Given the description of an element on the screen output the (x, y) to click on. 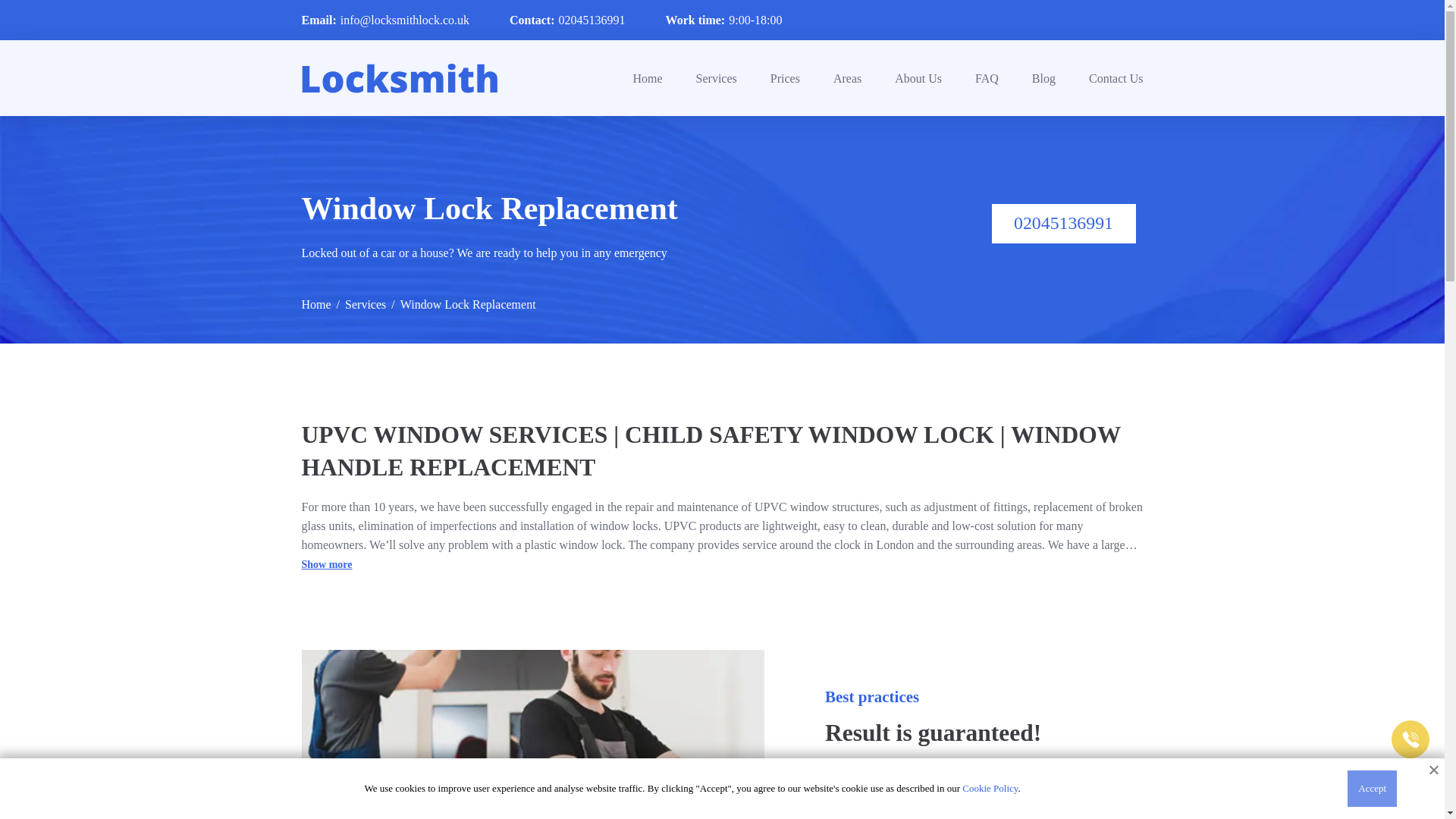
FAQ (986, 78)
About Us (918, 78)
Cookie Policy (989, 787)
Services (365, 309)
Home (646, 78)
Prices (784, 78)
Contact Us (1115, 78)
Services (715, 78)
Areas (846, 78)
on (326, 564)
